Given the description of an element on the screen output the (x, y) to click on. 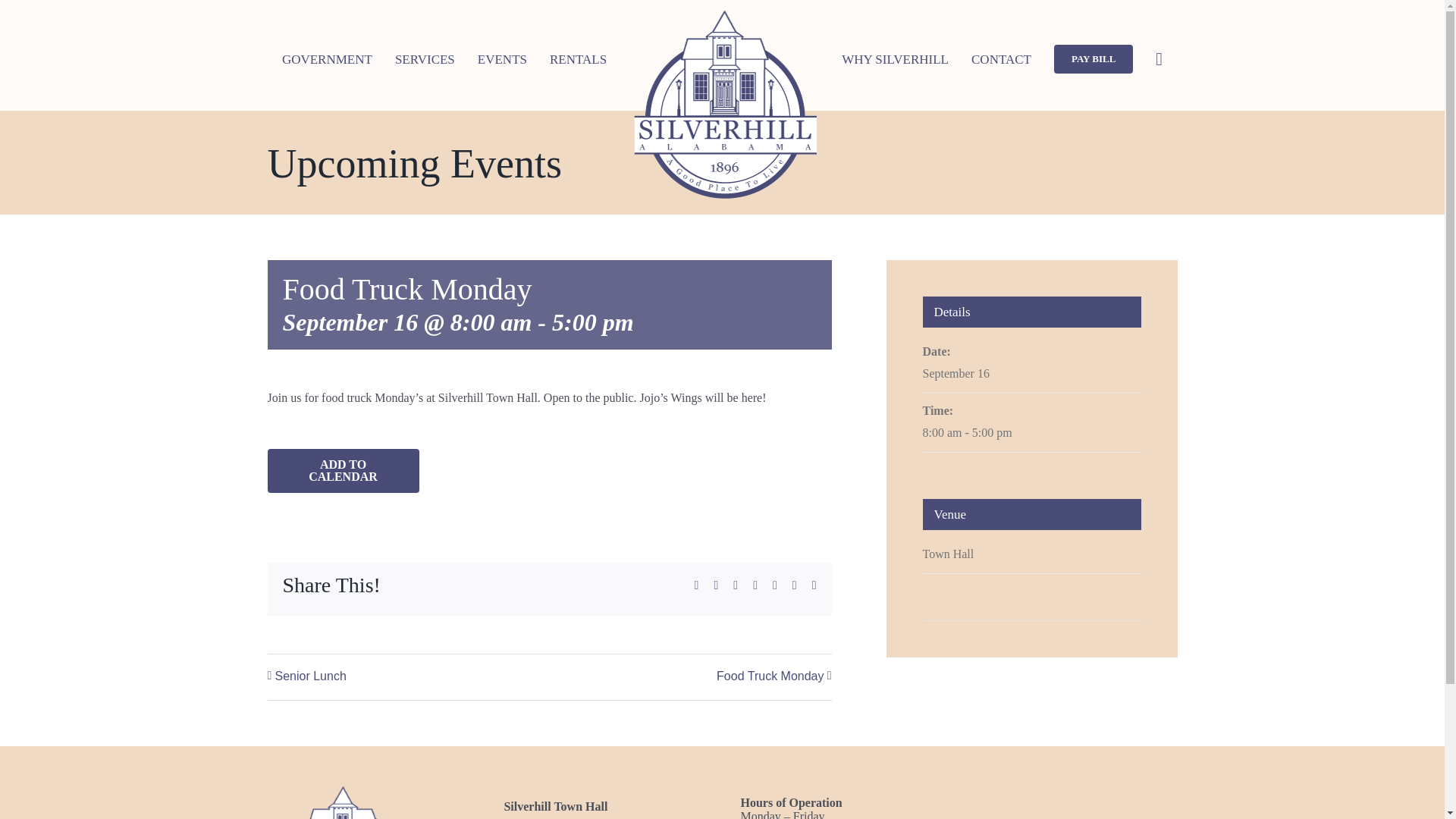
2024-09-16 (954, 373)
2024-09-16 (1030, 433)
GOVERNMENT (327, 59)
Town of Silverhill Alabama (342, 801)
PAY BILL (1093, 59)
WHY SILVERHILL (895, 59)
